Given the description of an element on the screen output the (x, y) to click on. 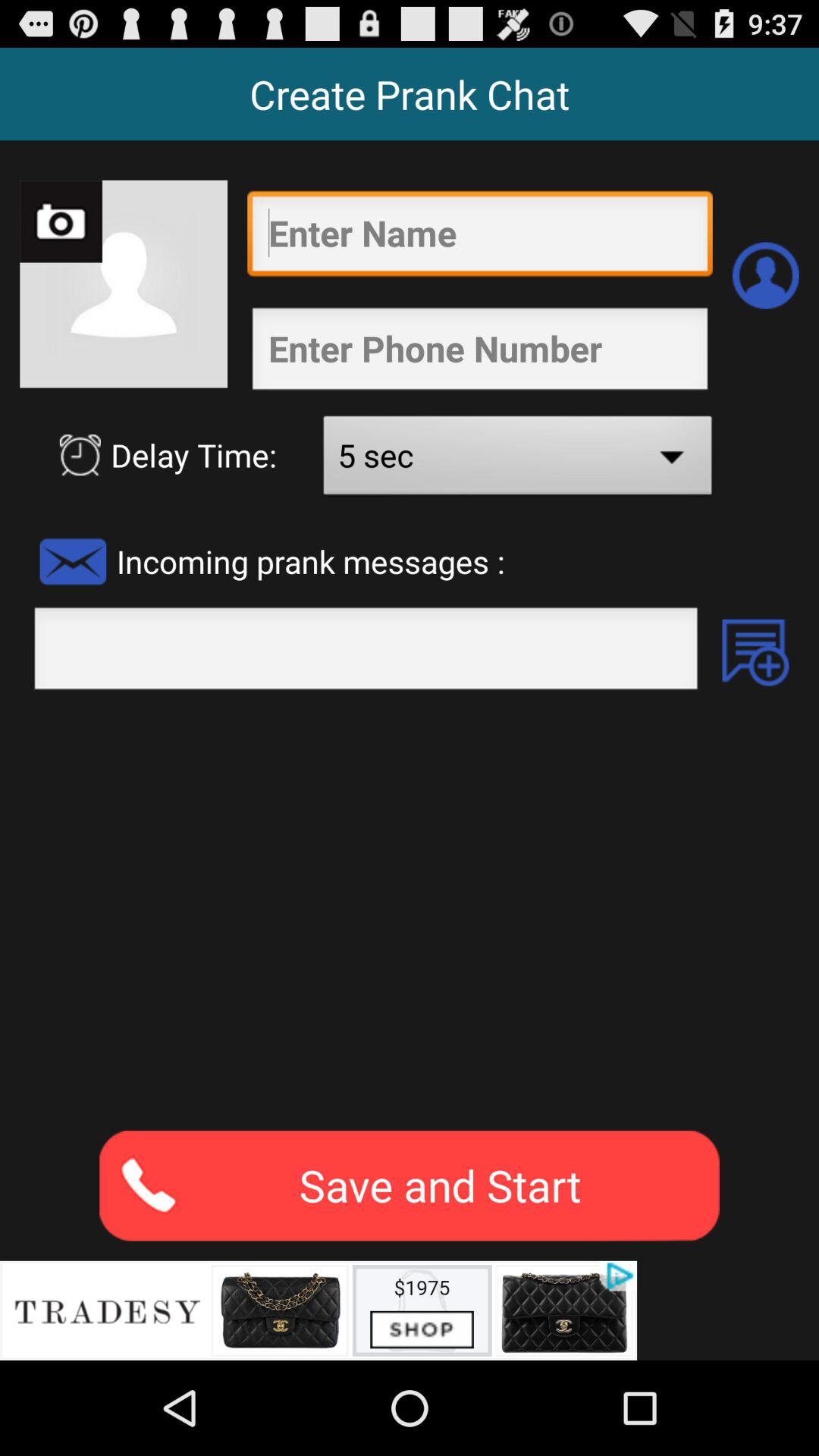
type the name (479, 237)
